Given the description of an element on the screen output the (x, y) to click on. 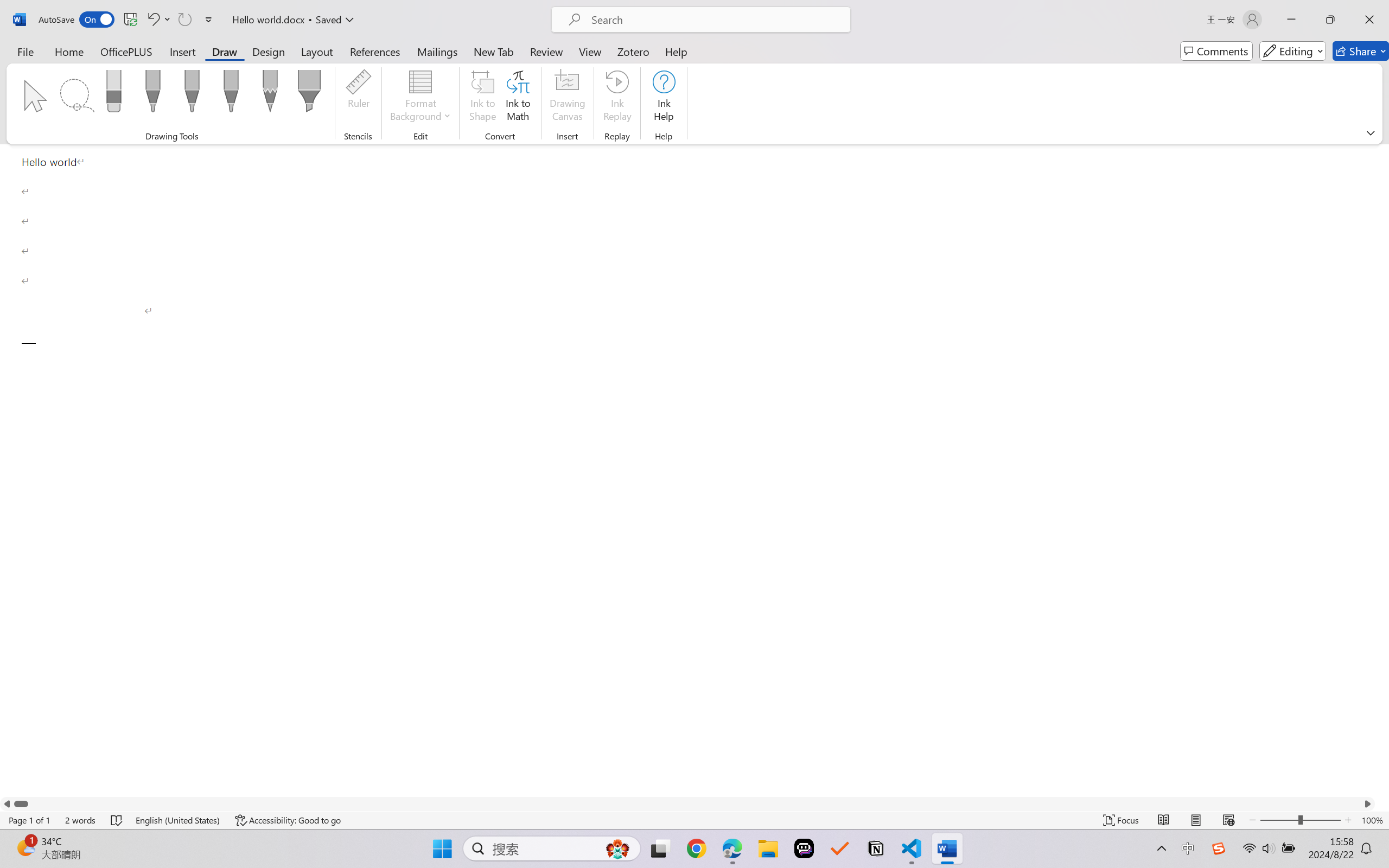
Focus  (1121, 819)
Comments (1216, 50)
Restore Down (1330, 19)
Review (546, 51)
AutoSave (76, 19)
Page right (694, 803)
Mailings (437, 51)
Class: Image (1218, 847)
Read Mode (1163, 819)
Language English (United States) (178, 819)
Ink Replay (617, 97)
Zoom 100% (1372, 819)
